Given the description of an element on the screen output the (x, y) to click on. 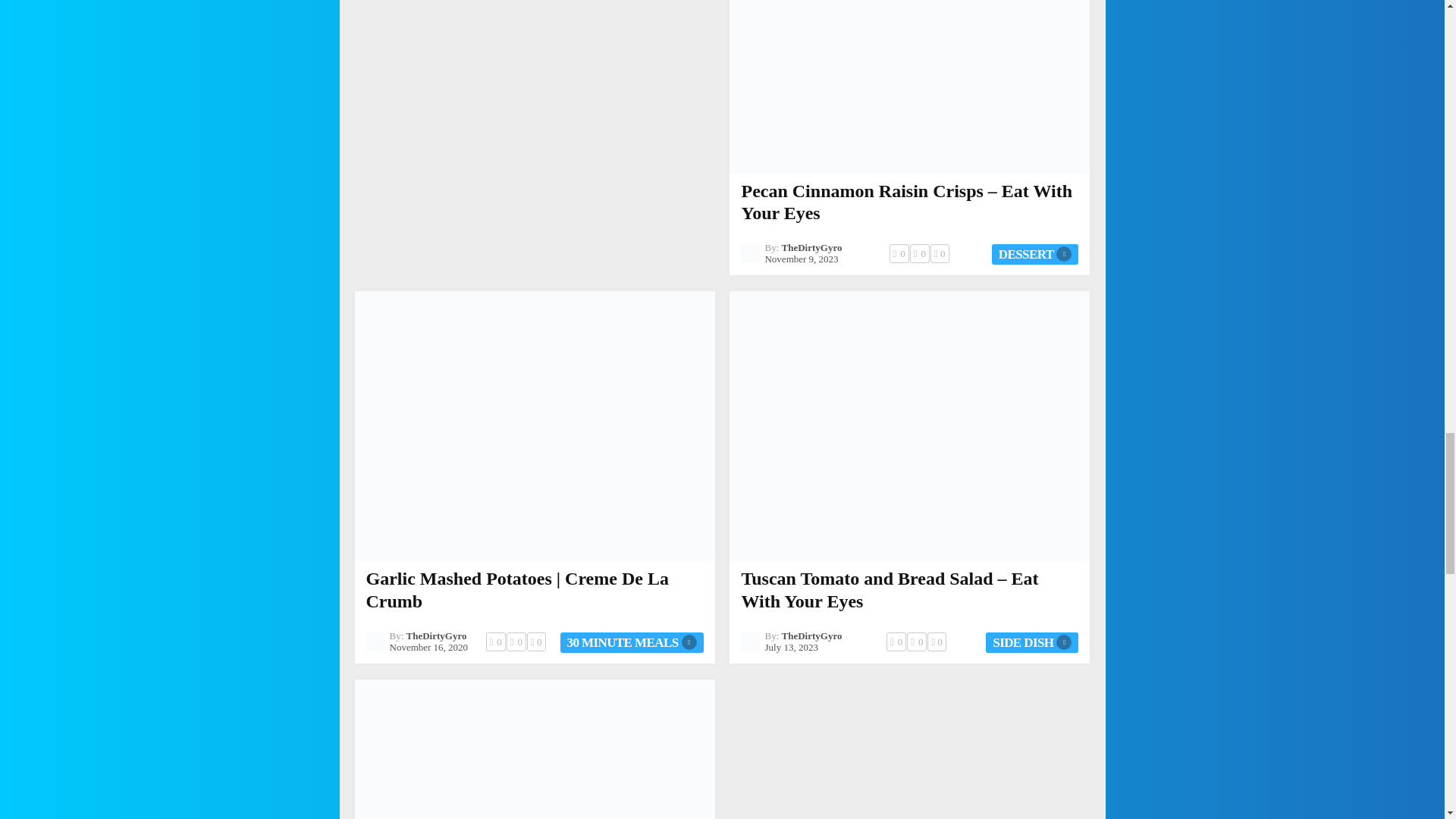
DESSERT (1034, 254)
TheDirtyGyro (436, 635)
TheDirtyGyro (812, 635)
Posts by TheDirtyGyro (436, 635)
TheDirtyGyro (812, 247)
30 MINUTE MEALS (631, 642)
Posts by TheDirtyGyro (812, 247)
